Given the description of an element on the screen output the (x, y) to click on. 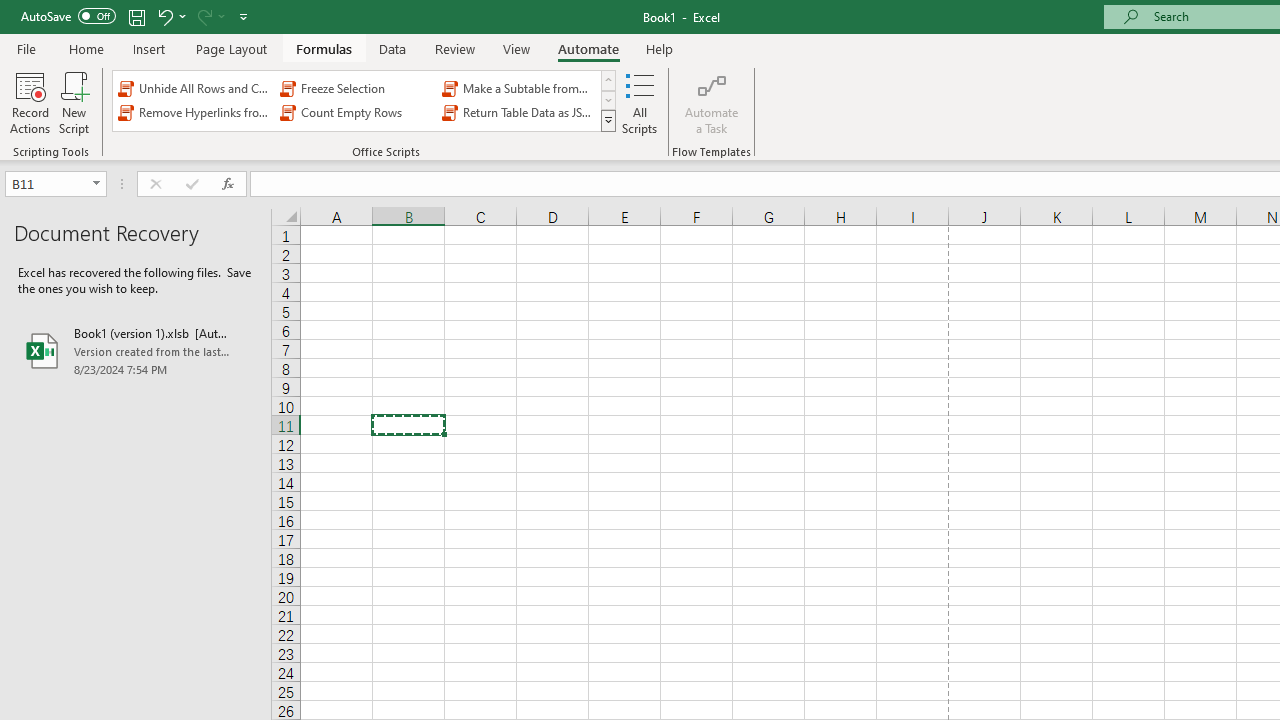
Automate a Task (712, 102)
Make a Subtable from a Selection (518, 88)
Unhide All Rows and Columns (194, 88)
Remove Hyperlinks from Sheet (194, 112)
